Given the description of an element on the screen output the (x, y) to click on. 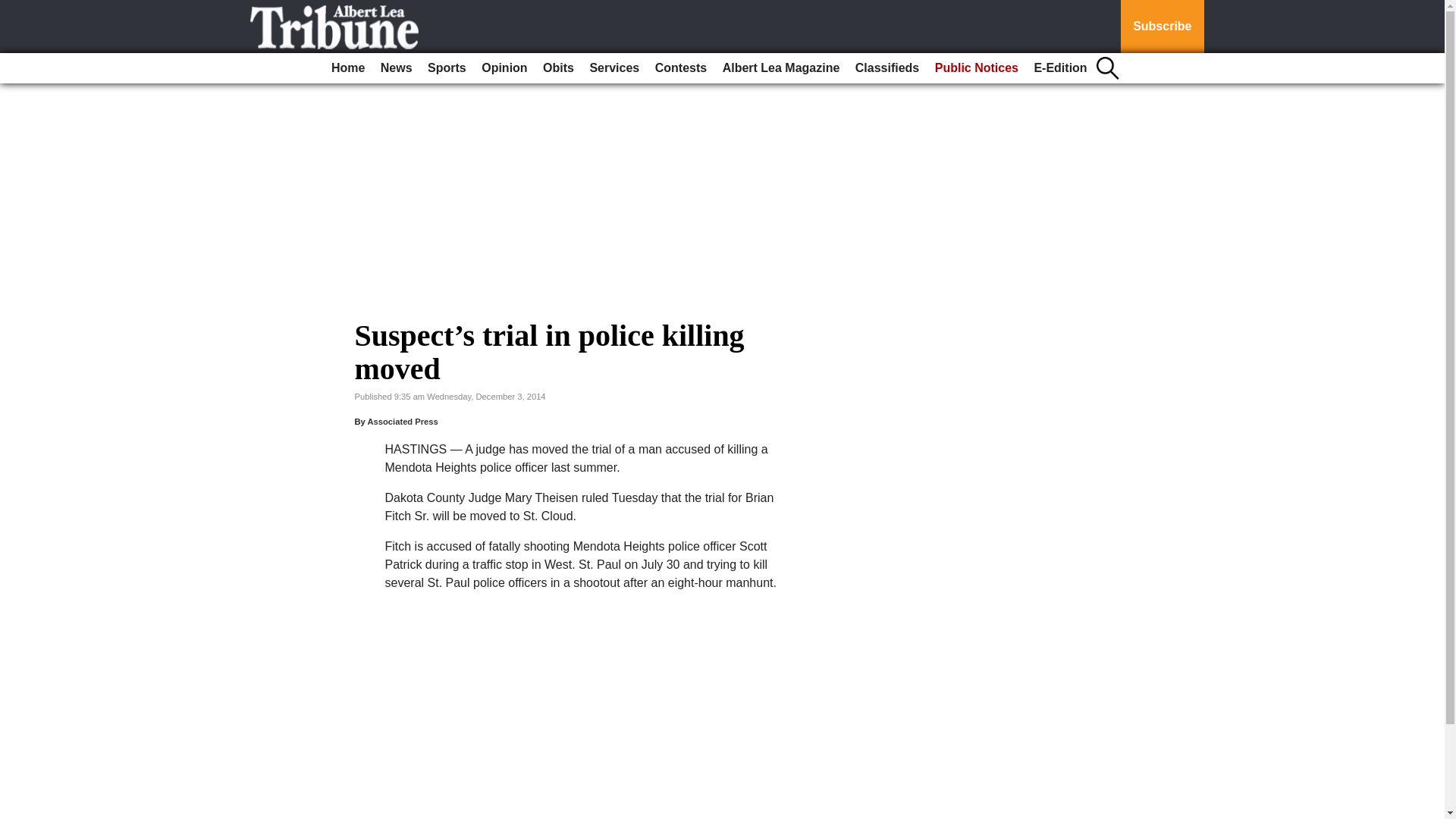
Opinion (504, 68)
Obits (558, 68)
News (396, 68)
Services (614, 68)
Subscribe (1162, 26)
Sports (446, 68)
Home (347, 68)
